Given the description of an element on the screen output the (x, y) to click on. 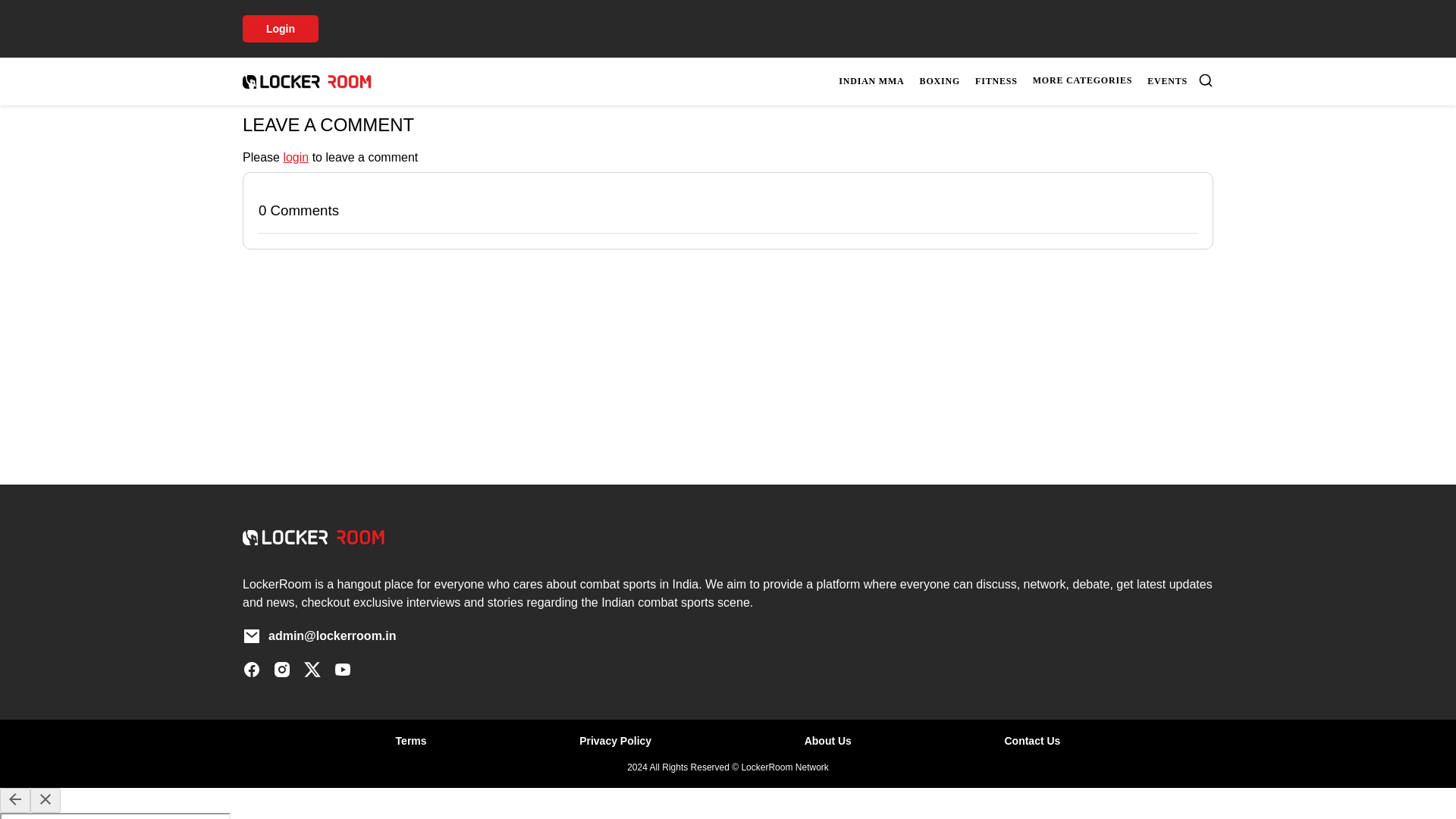
App Store (654, 72)
Google Playstore (539, 72)
